Given the description of an element on the screen output the (x, y) to click on. 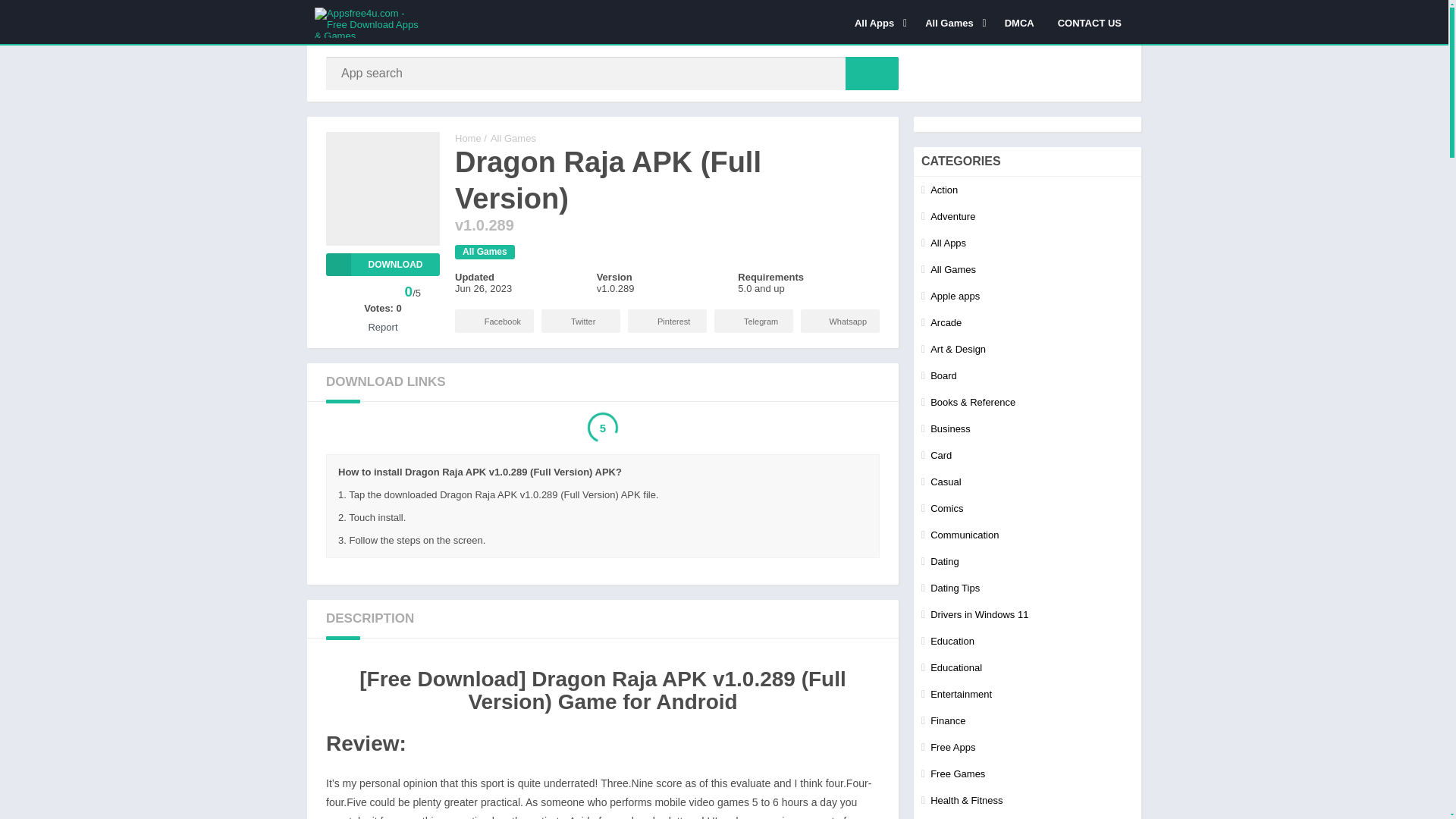
Twitter (580, 320)
CONTACT US (1089, 22)
DMCA (1018, 22)
Pinterest (666, 320)
Home (467, 138)
Download (382, 264)
DOWNLOAD (382, 264)
App search (871, 73)
Telegram (753, 320)
All Games (512, 138)
All Games (953, 22)
All Games (484, 251)
Facebook (494, 320)
All Apps (877, 22)
